Given the description of an element on the screen output the (x, y) to click on. 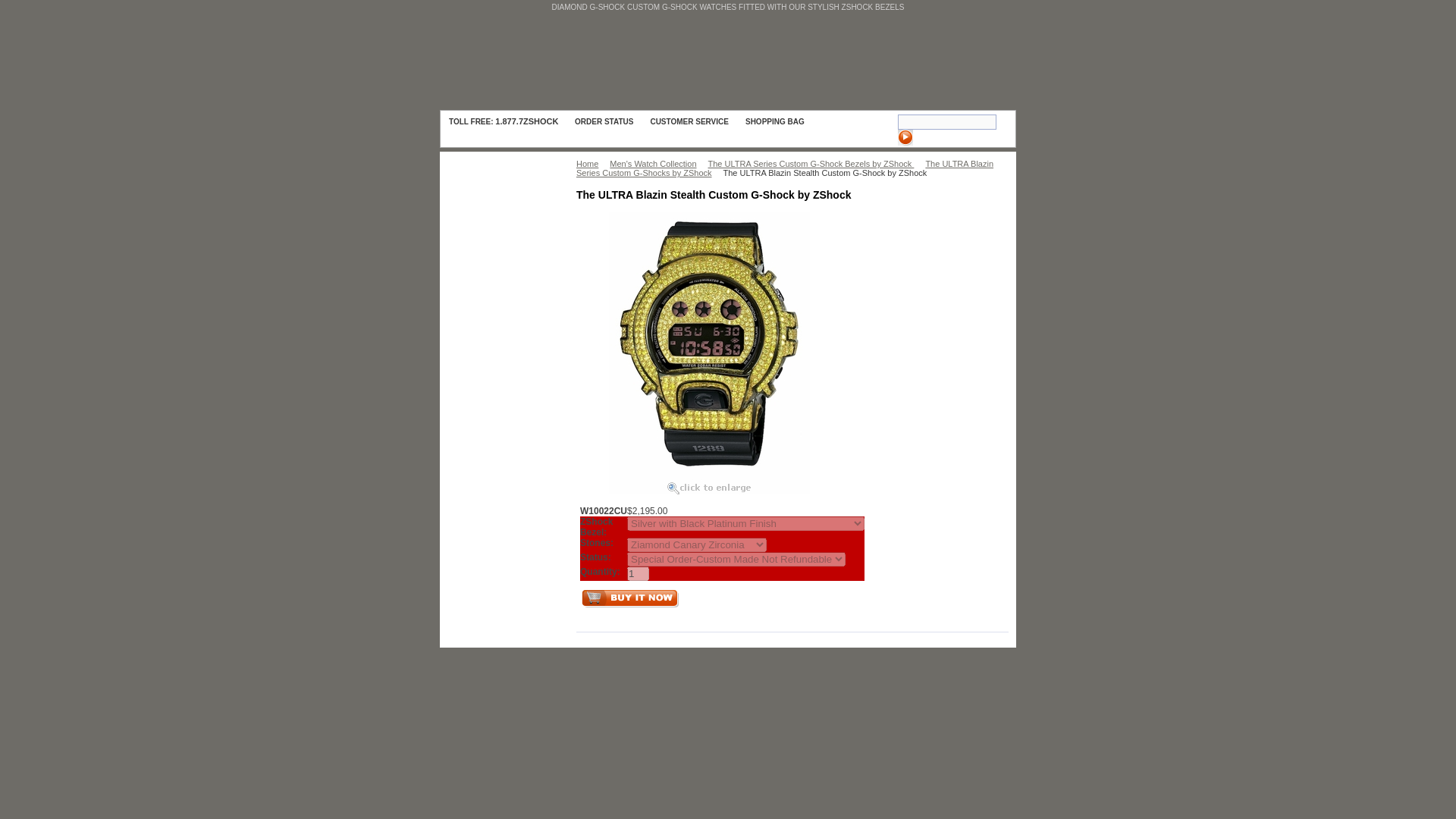
The ULTRA Blazin Series Custom G-Shocks by ZShock (784, 167)
Home (590, 163)
1 (638, 573)
CUSTOMER SERVICE (689, 121)
SHOPPING BAG (787, 121)
Men's Watch Collection (656, 163)
Go (905, 137)
The ULTRA Series Custom G-Shock Bezels by ZShock (814, 163)
ORDER STATUS (604, 121)
